Given the description of an element on the screen output the (x, y) to click on. 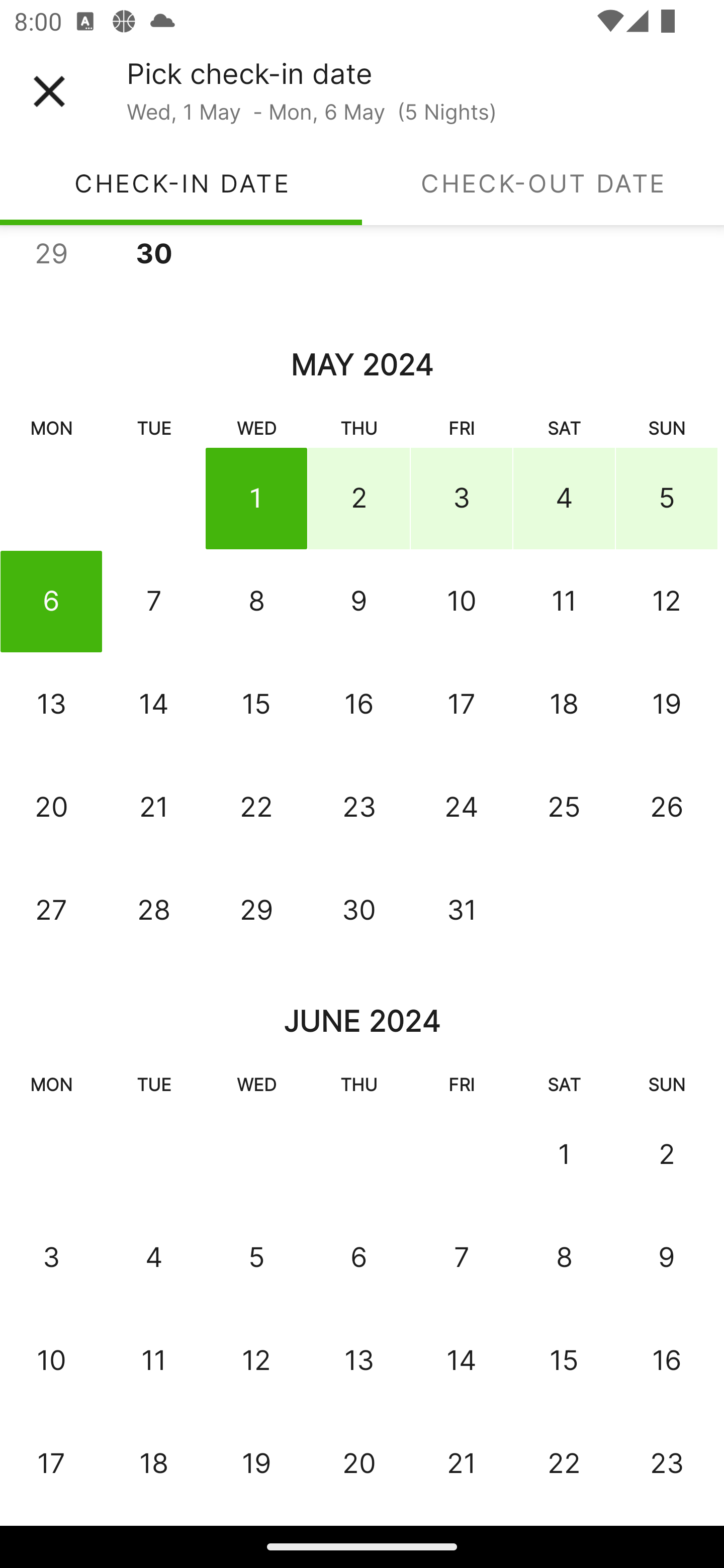
Check-out Date CHECK-OUT DATE (543, 183)
